Given the description of an element on the screen output the (x, y) to click on. 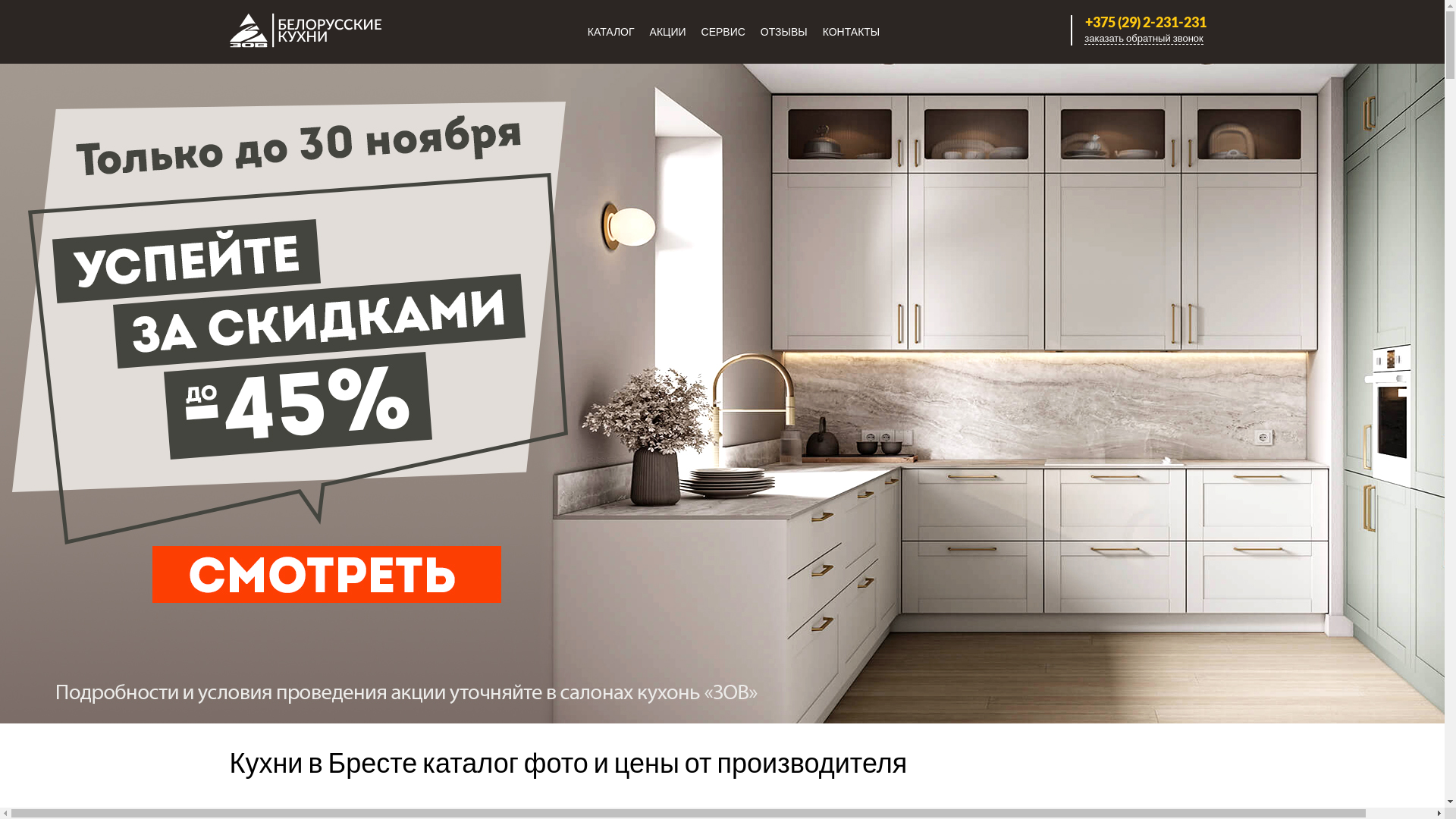
+375 (29) 2-231-231 Element type: text (1143, 22)
